Given the description of an element on the screen output the (x, y) to click on. 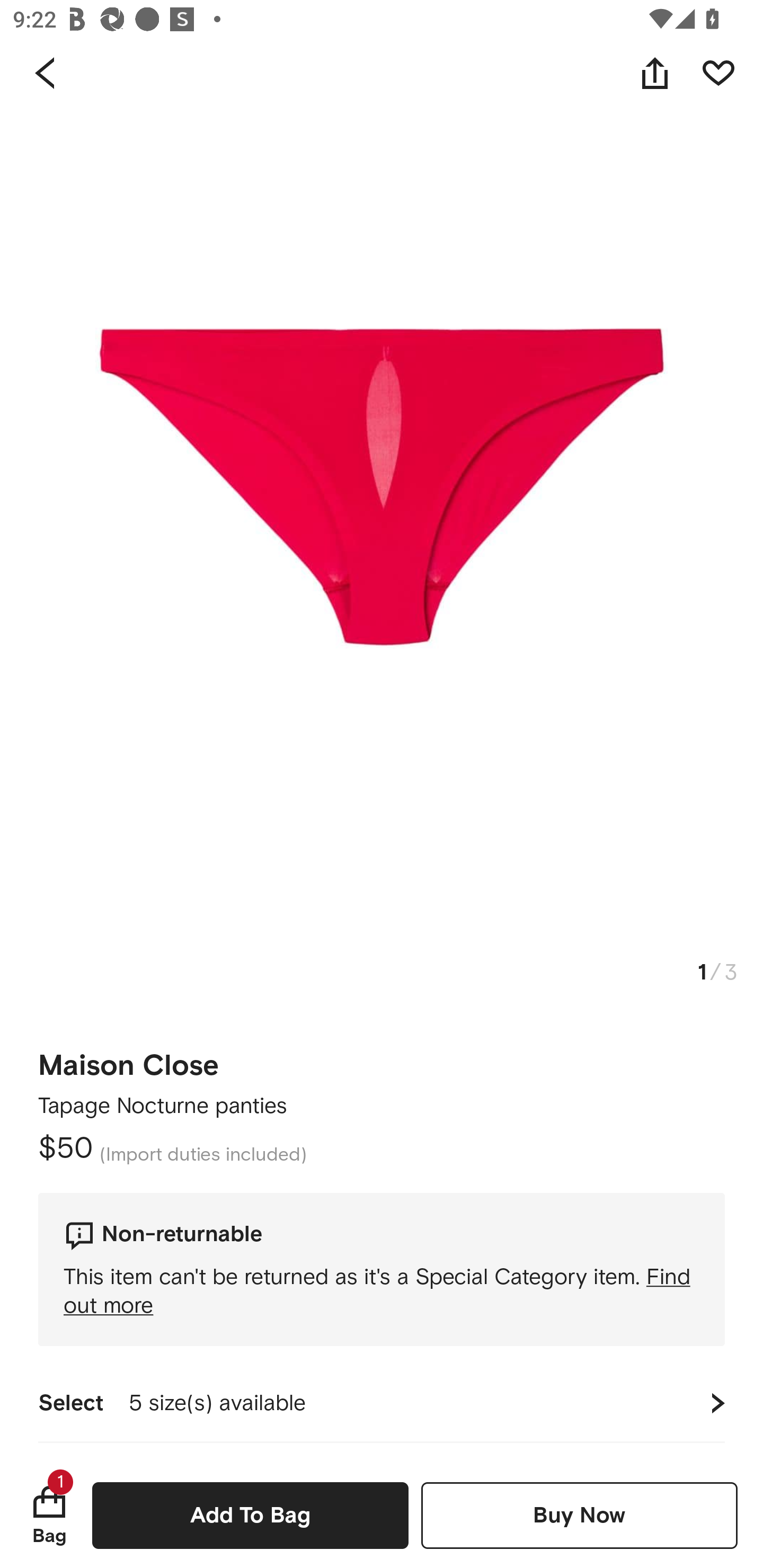
Maison Close (128, 1059)
Select 5 size(s) available (381, 1402)
Bag 1 (49, 1515)
Add To Bag (250, 1515)
Buy Now (579, 1515)
